Given the description of an element on the screen output the (x, y) to click on. 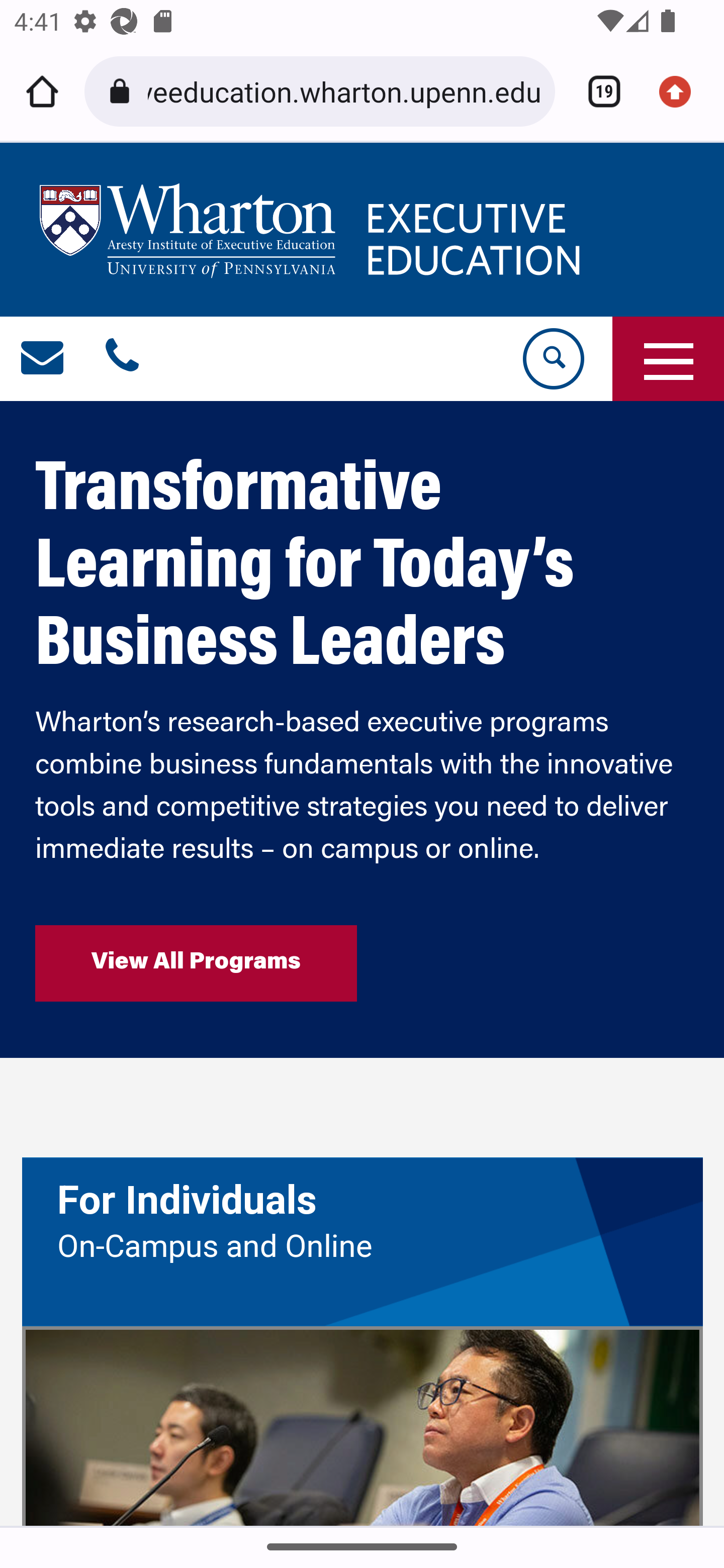
Home (42, 91)
Connection is secure (122, 91)
Switch or close tabs (597, 91)
Update available. More options (681, 91)
executiveeducation.wharton.upenn.edu (343, 90)
Wharton Executive Education (313, 227)
 (43, 358)
 (122, 358)
Mobile menu toggle (668, 358)
 Search Wharton  (552, 358)
View All Programs (195, 963)
For Individuals For Individuals For Individuals (362, 1200)
Participants in classroom (361, 1425)
